Given the description of an element on the screen output the (x, y) to click on. 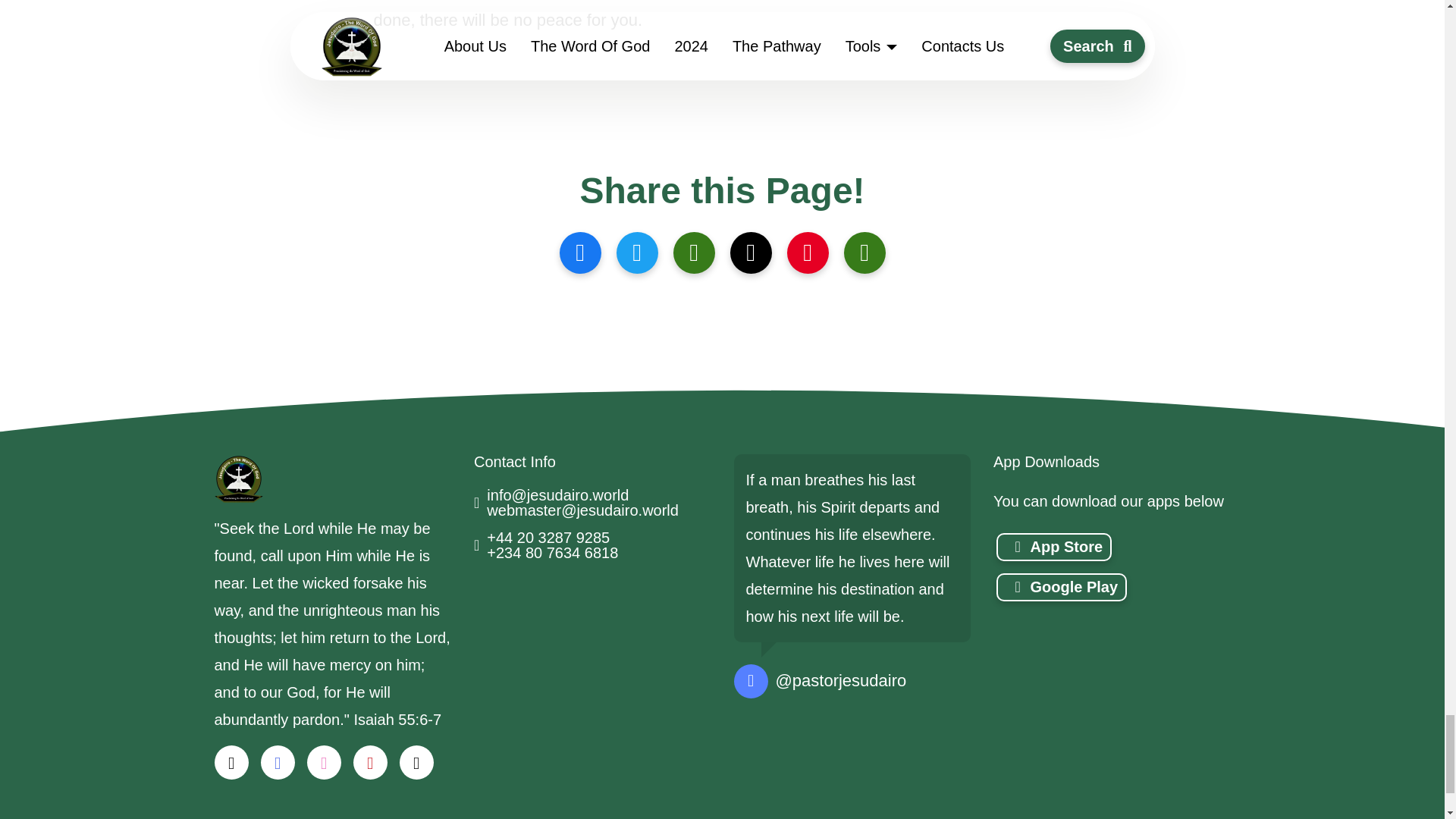
Google Play (1060, 587)
App Store (1053, 547)
